Given the description of an element on the screen output the (x, y) to click on. 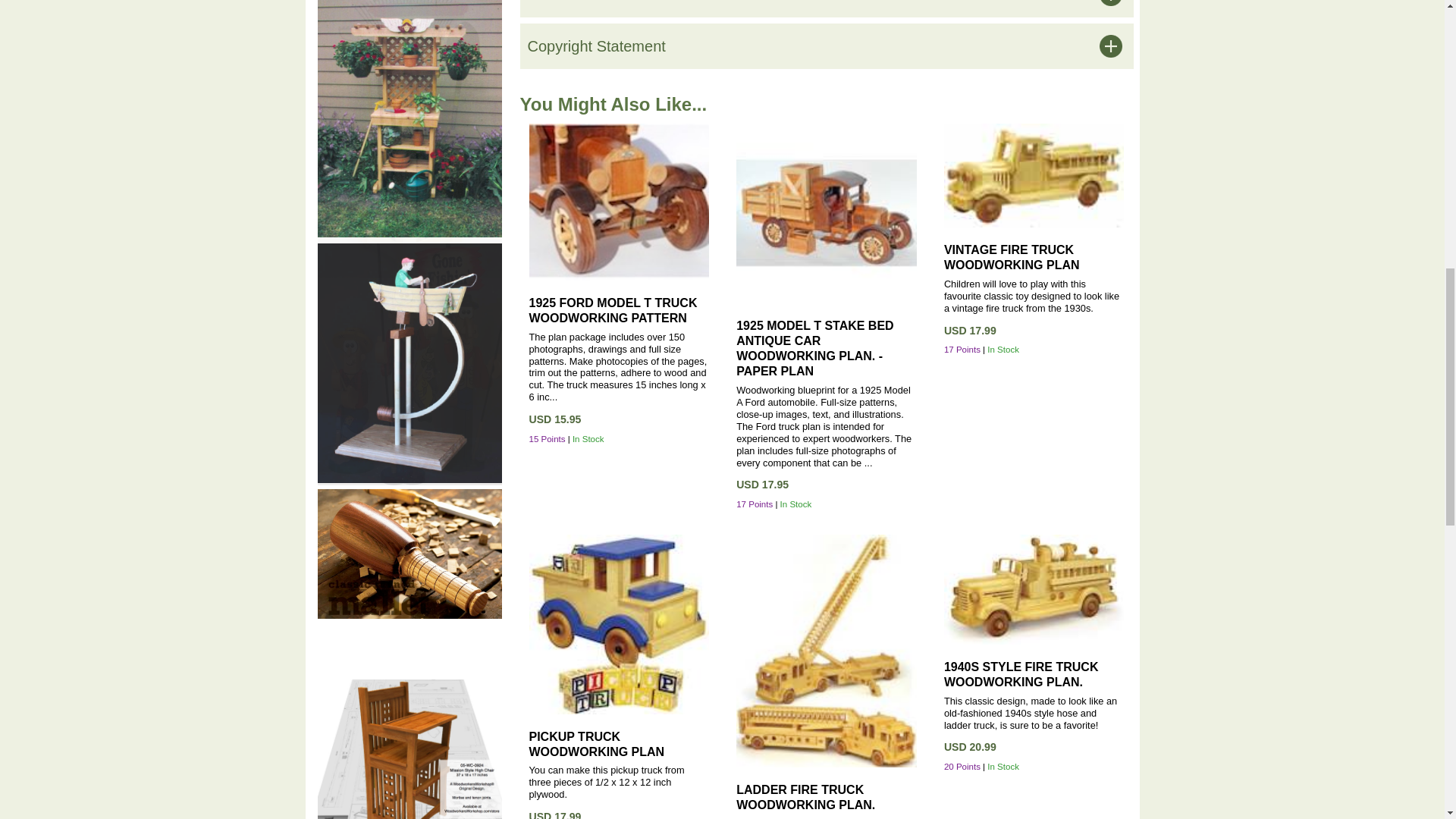
PICKUP TRUCK WOODWORKING PLAN (597, 744)
Pickup Truck Woodworking Plan (597, 744)
LADDER FIRE TRUCK WOODWORKING PLAN. (805, 796)
1940s Style Fire Truck Woodworking Plan. (1021, 674)
Ladder Fire Truck Woodworking Plan. (826, 649)
Vintage Fire Truck Woodworking Plan (1011, 257)
VINTAGE FIRE TRUCK WOODWORKING PLAN (1011, 257)
1925 FORD MODEL T TRUCK WOODWORKING PATTERN (613, 310)
1940S STYLE FIRE TRUCK WOODWORKING PLAN. (1021, 674)
1940s Style Fire Truck Woodworking Plan. (1033, 588)
Pickup Truck Woodworking Plan (619, 623)
Vintage Fire Truck Woodworking Plan (1033, 175)
